Given the description of an element on the screen output the (x, y) to click on. 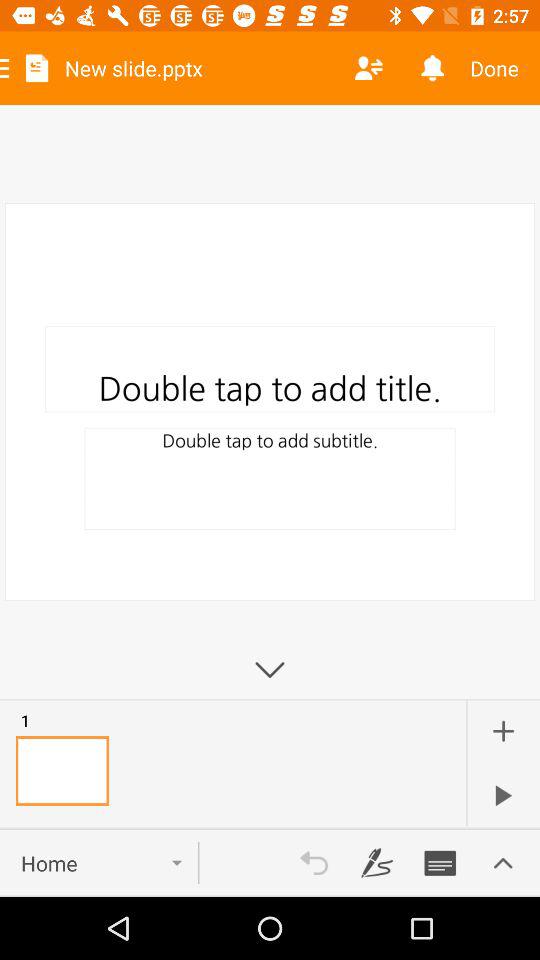
save button (440, 863)
